Given the description of an element on the screen output the (x, y) to click on. 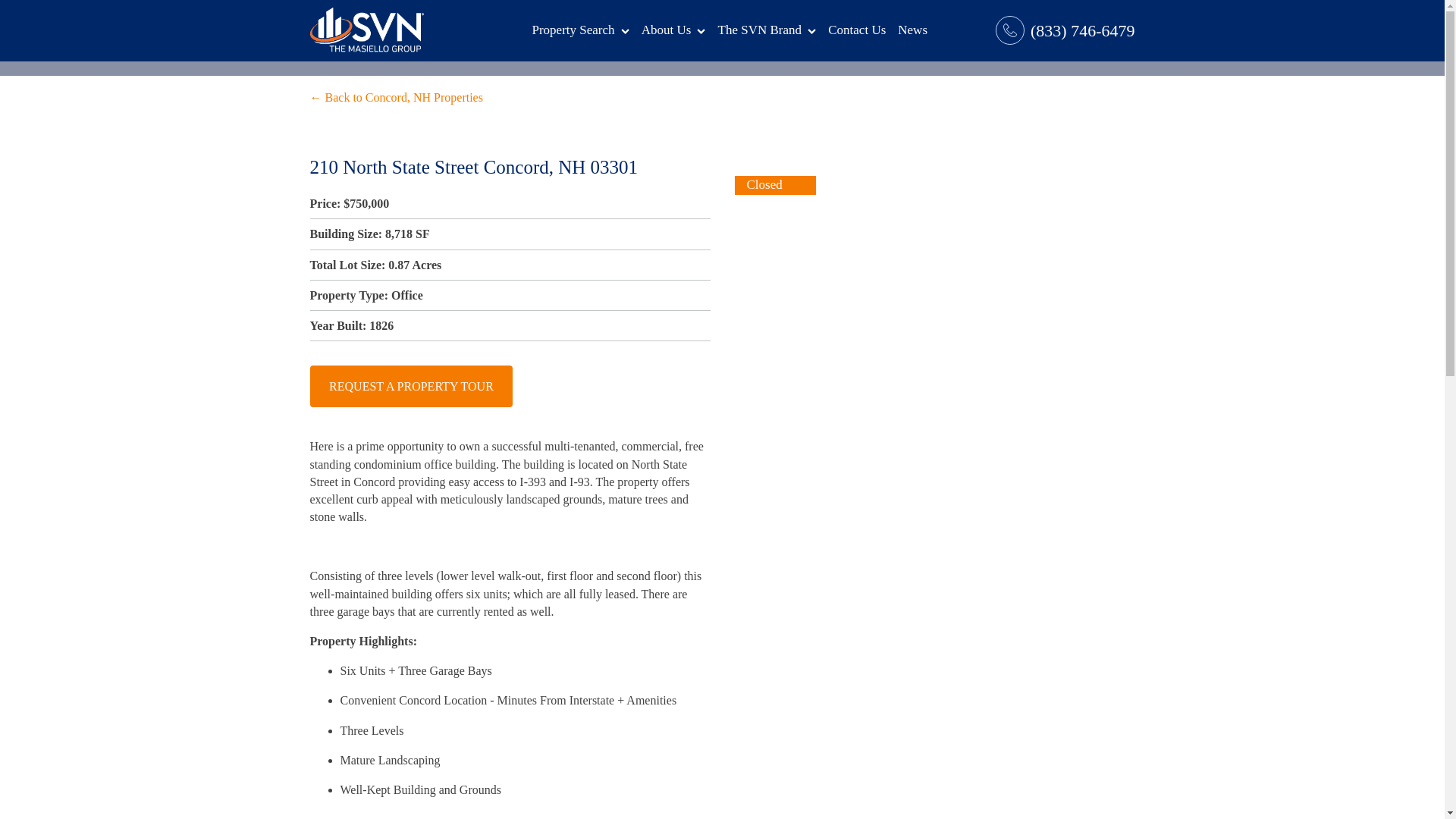
Contact Us (856, 30)
REQUEST A PROPERTY TOUR (410, 386)
Property Search (579, 30)
News (912, 30)
The SVN Brand (766, 30)
About Us (672, 30)
